Given the description of an element on the screen output the (x, y) to click on. 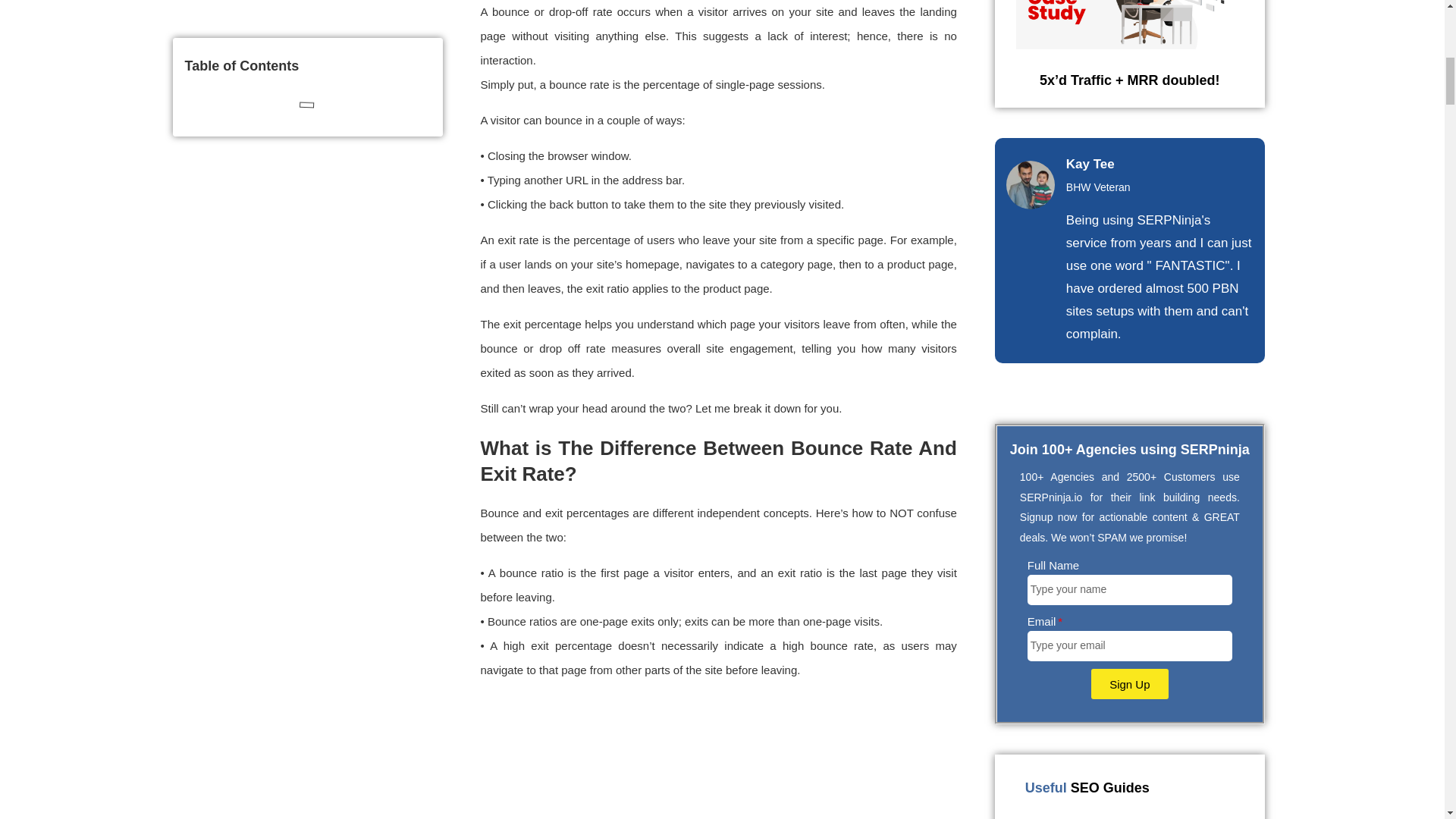
Source: CXL. (718, 760)
Source: CXL. (718, 760)
